Given the description of an element on the screen output the (x, y) to click on. 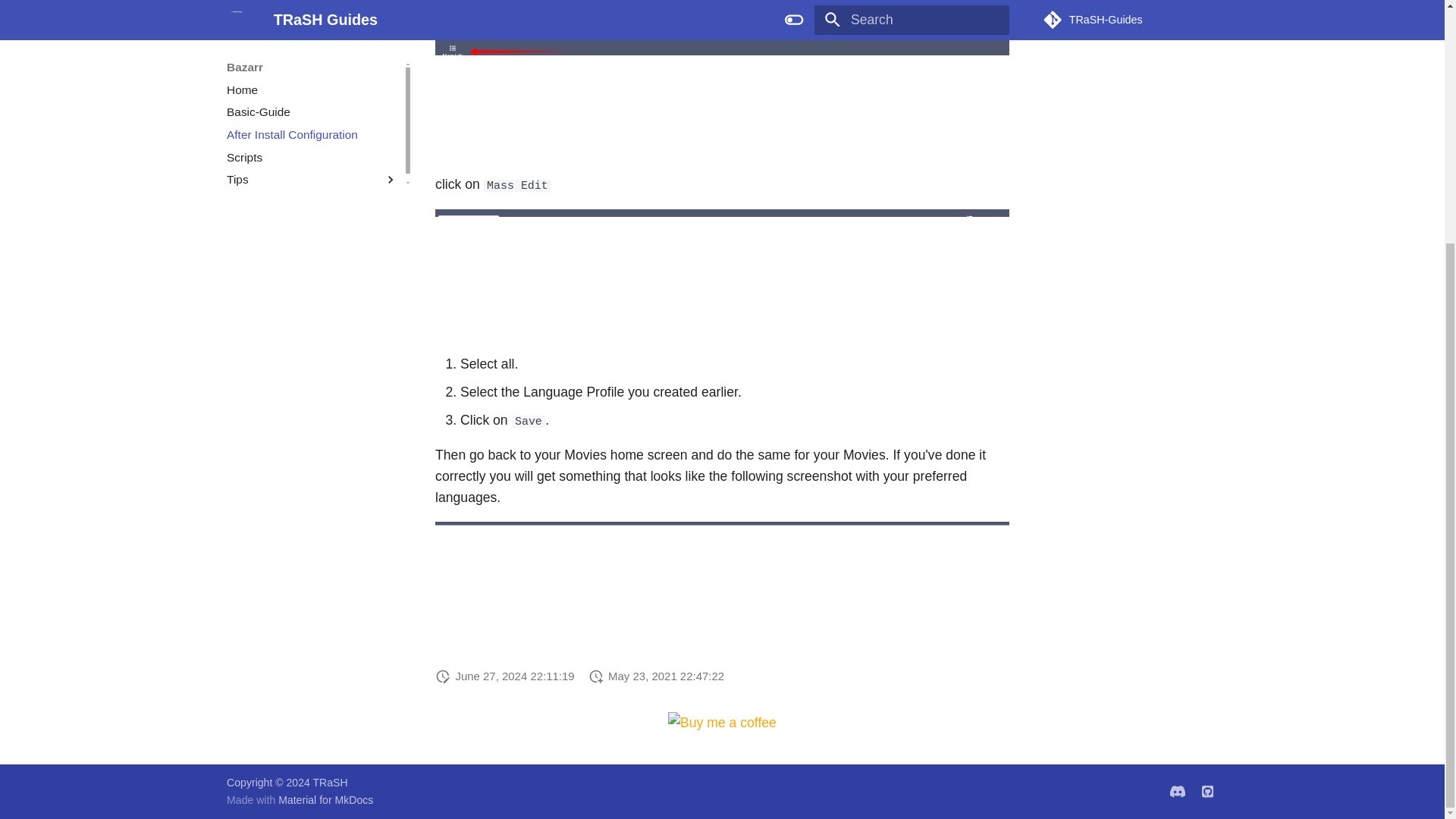
Created (596, 675)
github.com (1207, 791)
Last update (442, 675)
Buy me a Coffee (724, 722)
trash-guides.info (1177, 791)
